Given the description of an element on the screen output the (x, y) to click on. 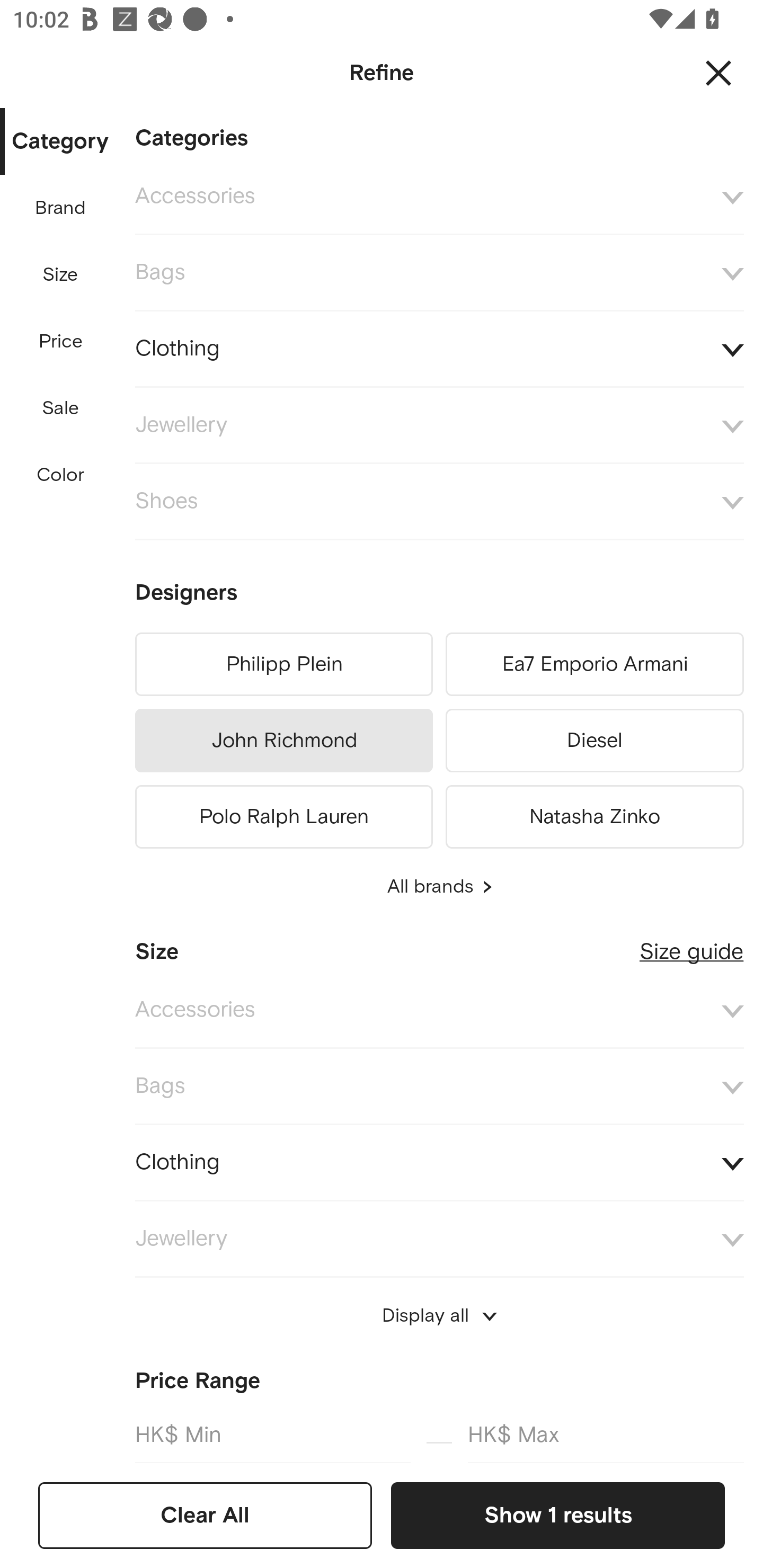
Category (60, 141)
Accessories (439, 196)
Brand (60, 208)
Bags (439, 272)
Size (60, 274)
Price (60, 342)
Clothing (439, 348)
Sale (60, 408)
Jewellery (439, 425)
Color (60, 475)
Shoes (439, 501)
Philipp Plein (283, 663)
Ea7 Emporio Armani (594, 663)
John Richmond (283, 740)
Diesel (594, 740)
Polo Ralph Lauren (283, 813)
Natasha Zinko (594, 813)
All brands (439, 886)
Size guide (691, 944)
Accessories (439, 1010)
Bags (439, 1086)
Clothing (439, 1162)
Jewellery (439, 1239)
Display all (439, 1315)
HK$ Min (272, 1433)
HK$ Max (605, 1433)
Clear All (205, 1515)
Show 1 results (557, 1515)
